Given the description of an element on the screen output the (x, y) to click on. 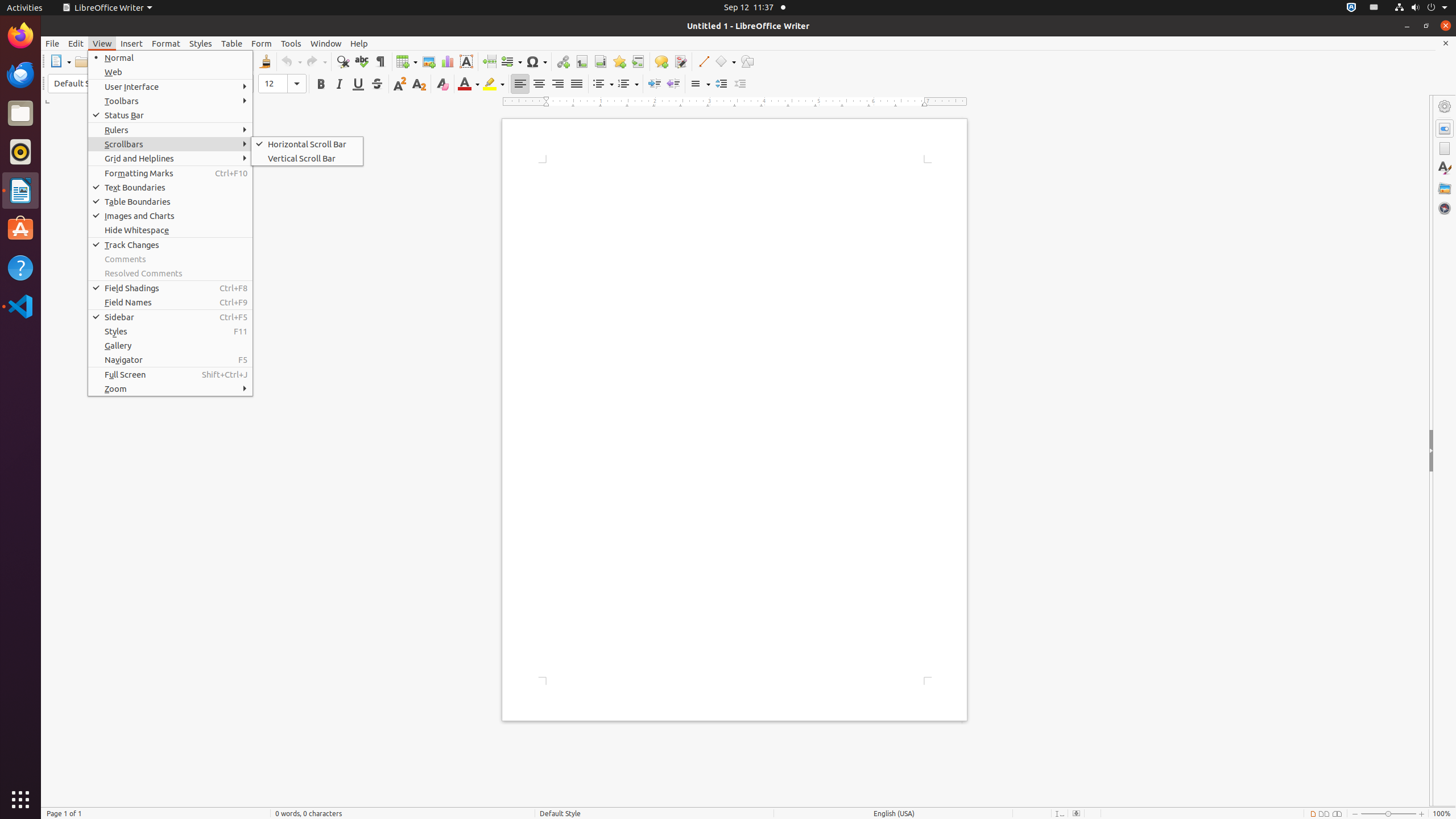
Resolved Comments Element type: menu-item (170, 273)
Draw Functions Element type: push-button (746, 61)
Thunderbird Mail Element type: push-button (20, 74)
Bookmark Element type: push-button (618, 61)
Styles Element type: menu (200, 43)
